Given the description of an element on the screen output the (x, y) to click on. 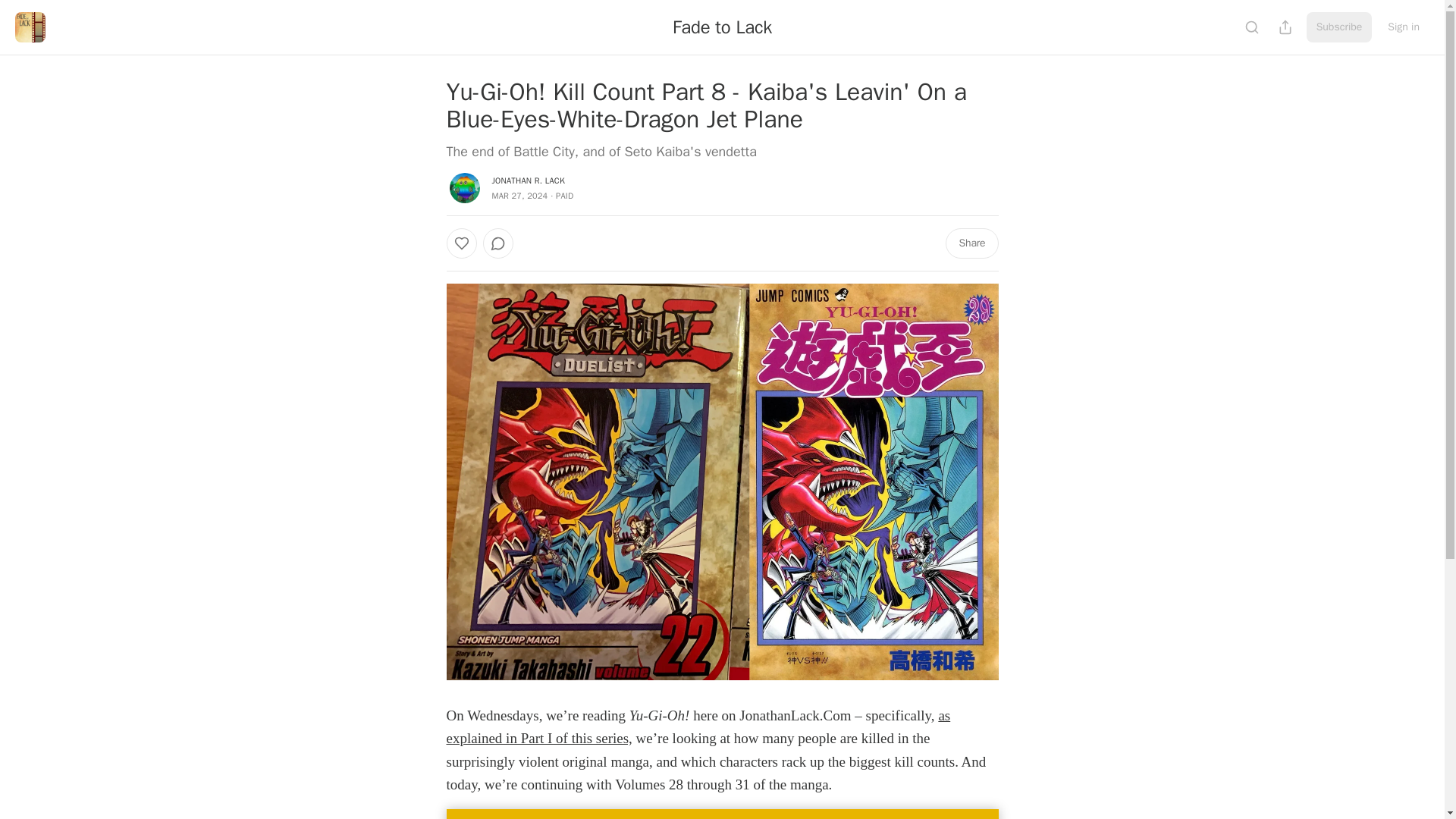
JONATHAN R. LACK (528, 180)
Share (970, 243)
Subscribe (1339, 27)
as explained in Part I of this series, (697, 726)
Fade to Lack (721, 26)
Sign in (1403, 27)
